Given the description of an element on the screen output the (x, y) to click on. 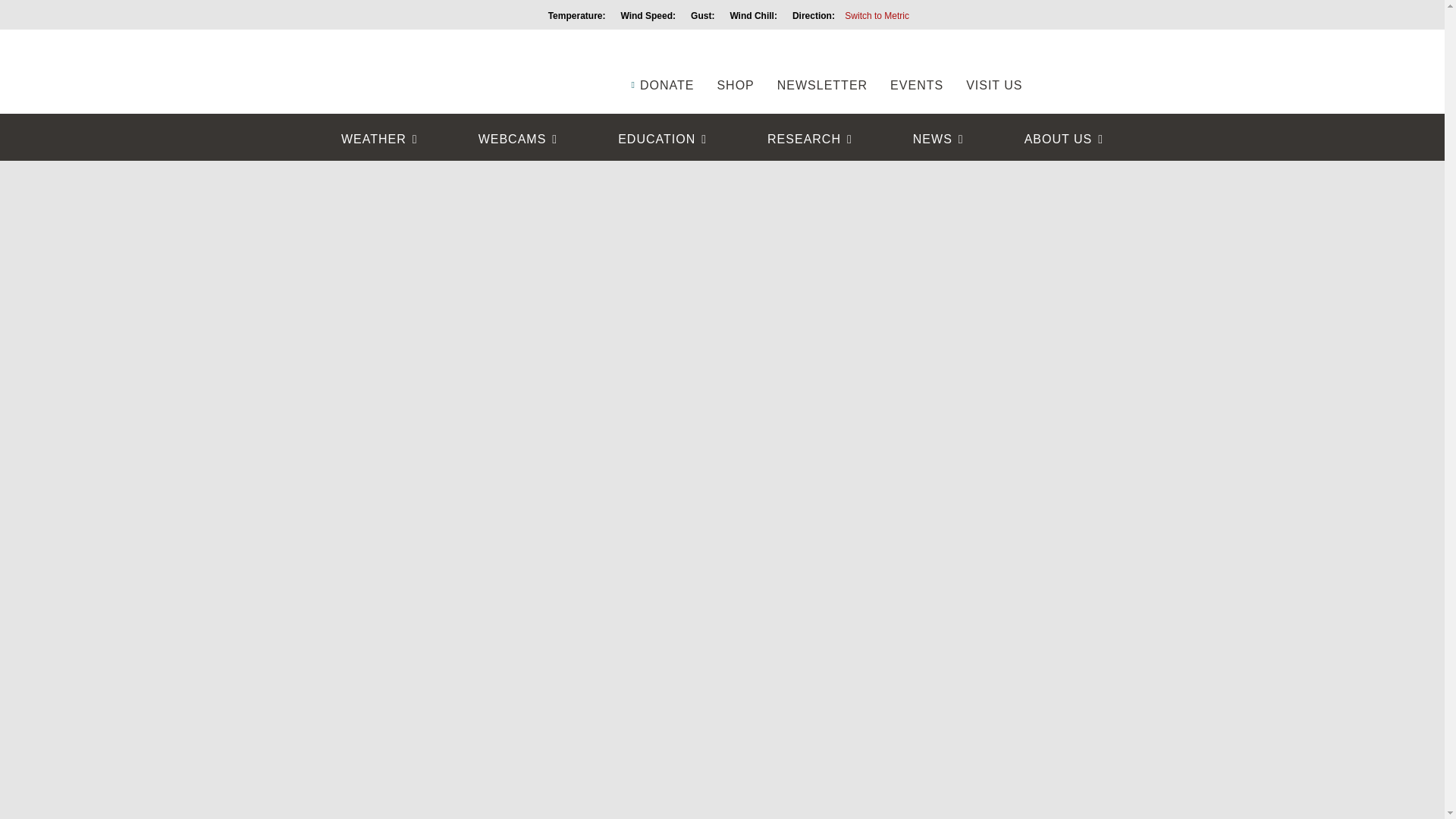
WEATHER (379, 139)
WEBCAMS (518, 139)
DONATE (660, 62)
Switch to Metric (876, 15)
EDUCATION (662, 139)
NEWSLETTER (822, 62)
